Given the description of an element on the screen output the (x, y) to click on. 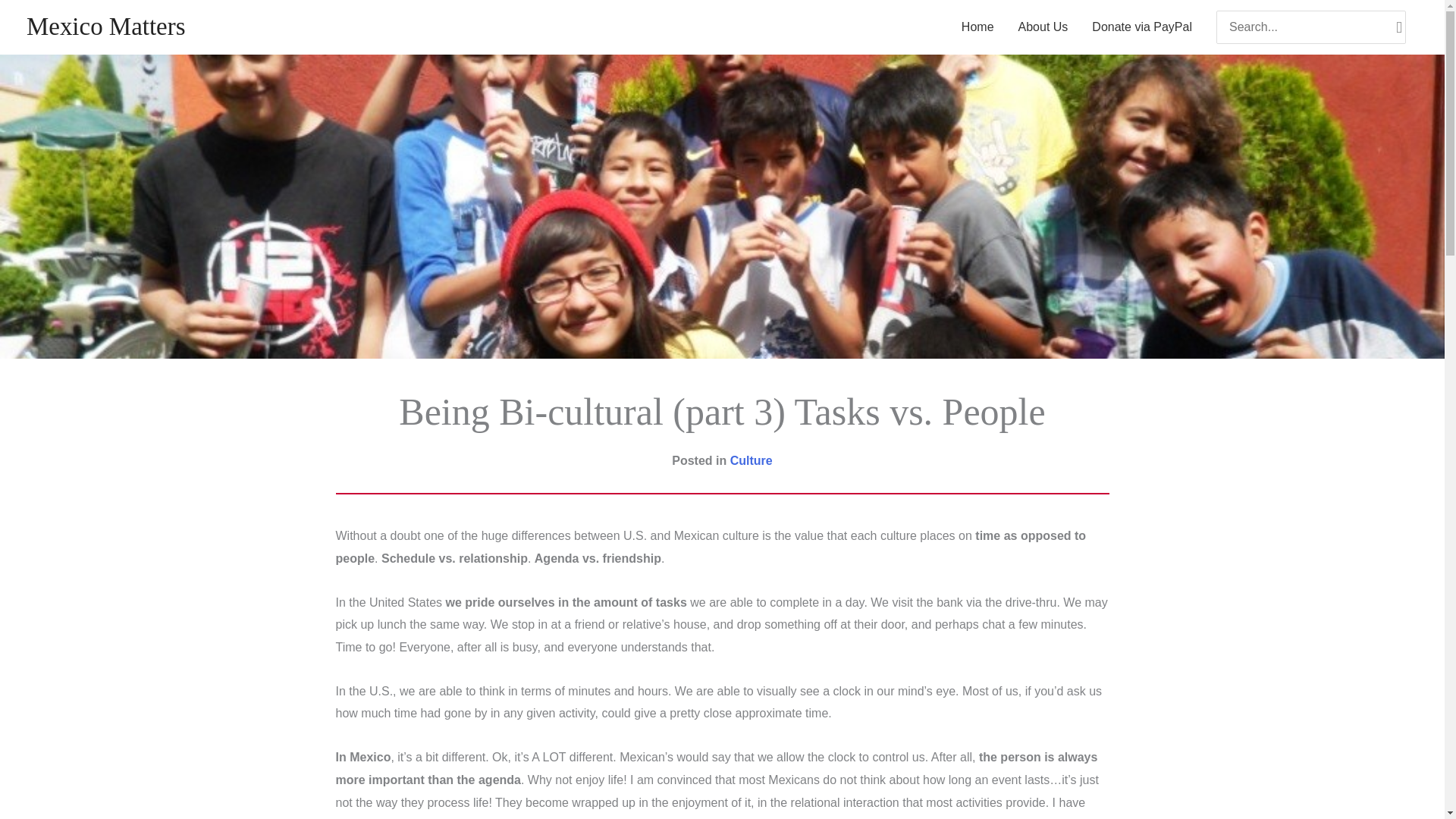
About Us (1043, 27)
Home (977, 27)
Donate via PayPal (1142, 27)
Culture (751, 460)
Mexico Matters (105, 26)
